Given the description of an element on the screen output the (x, y) to click on. 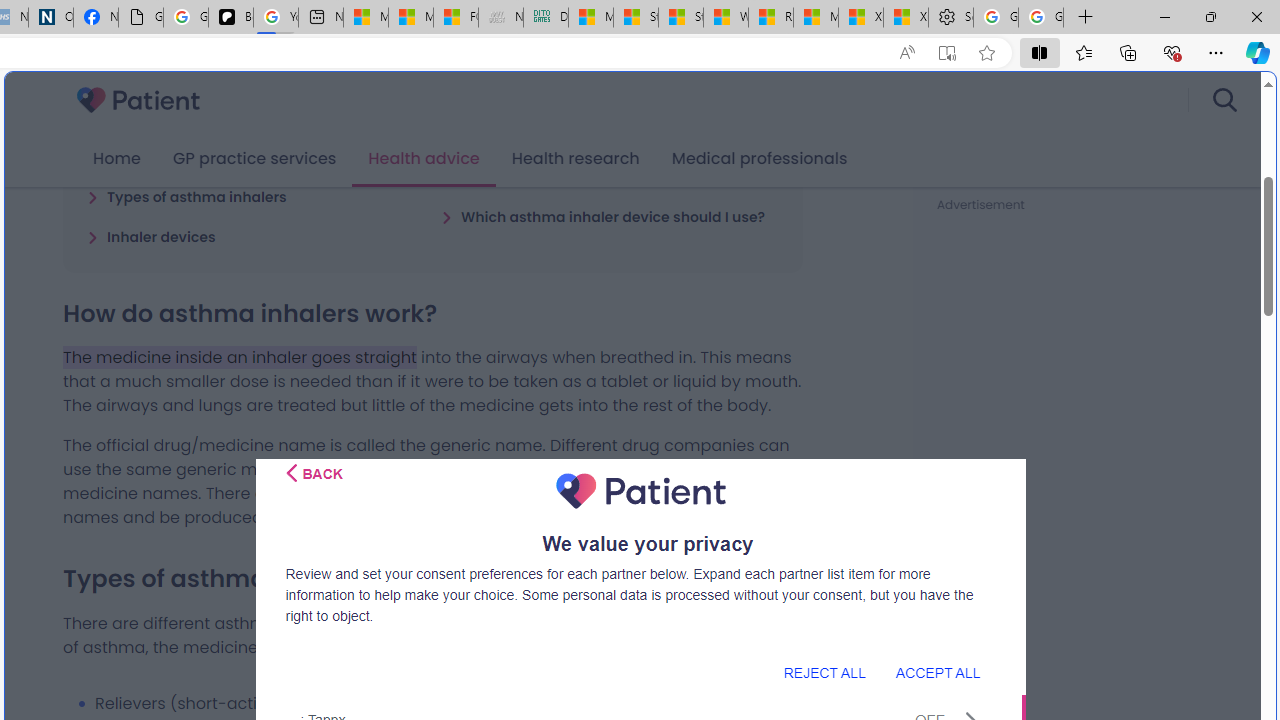
search (1223, 99)
Types of asthma inhalers (186, 196)
Health research (575, 159)
